Given the description of an element on the screen output the (x, y) to click on. 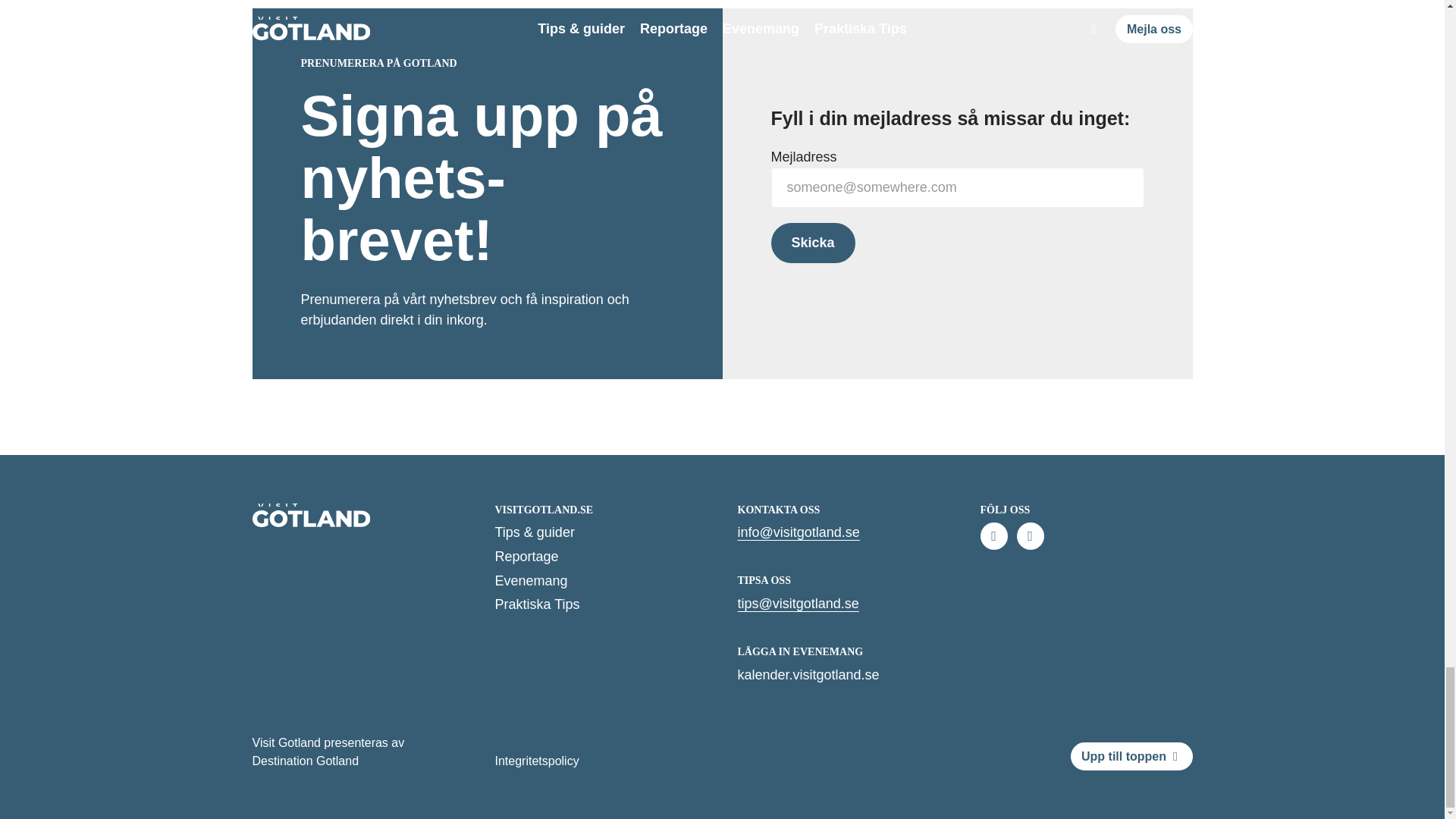
Skicka (812, 242)
